Given the description of an element on the screen output the (x, y) to click on. 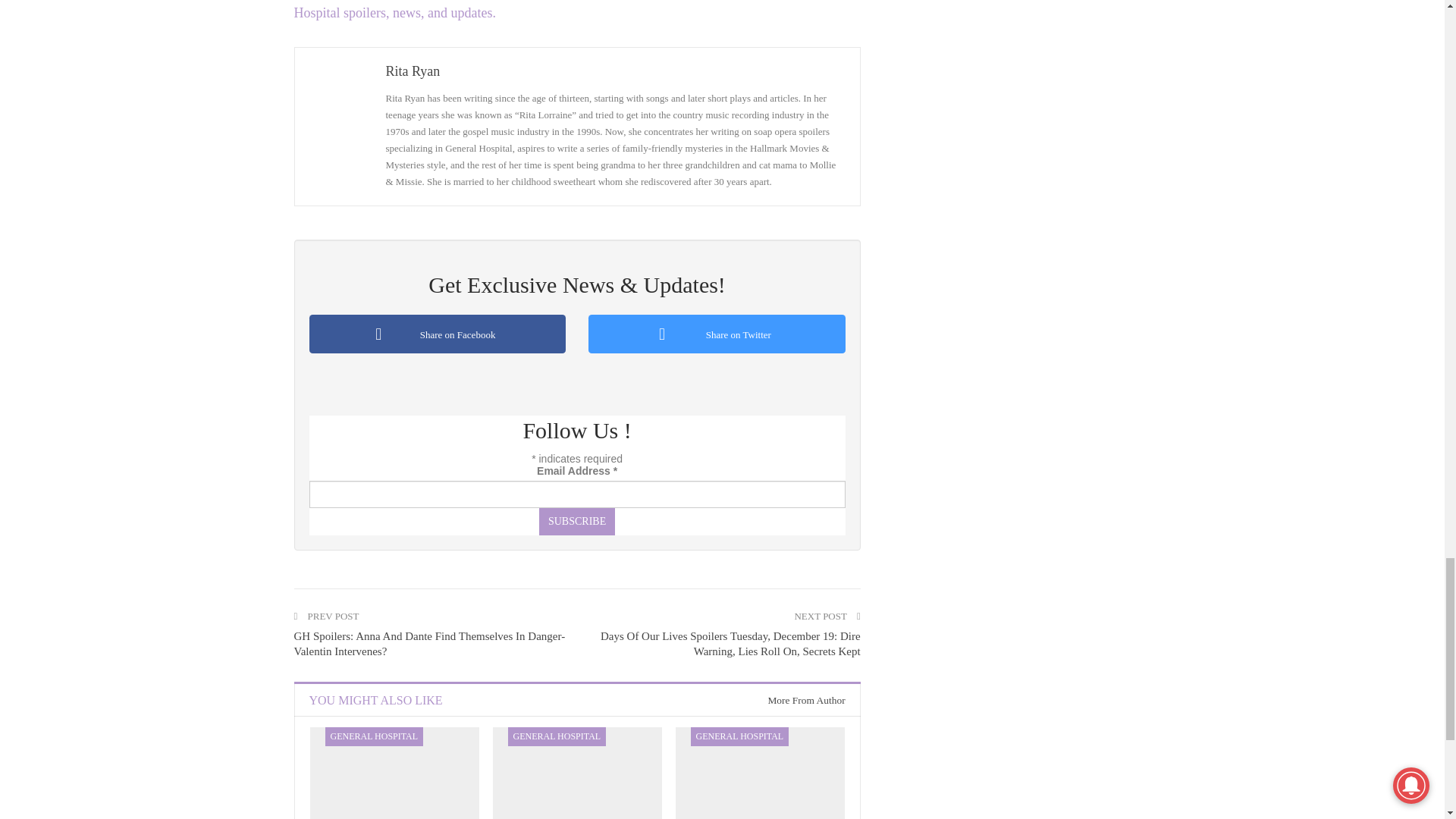
Subscribe (576, 521)
